Given the description of an element on the screen output the (x, y) to click on. 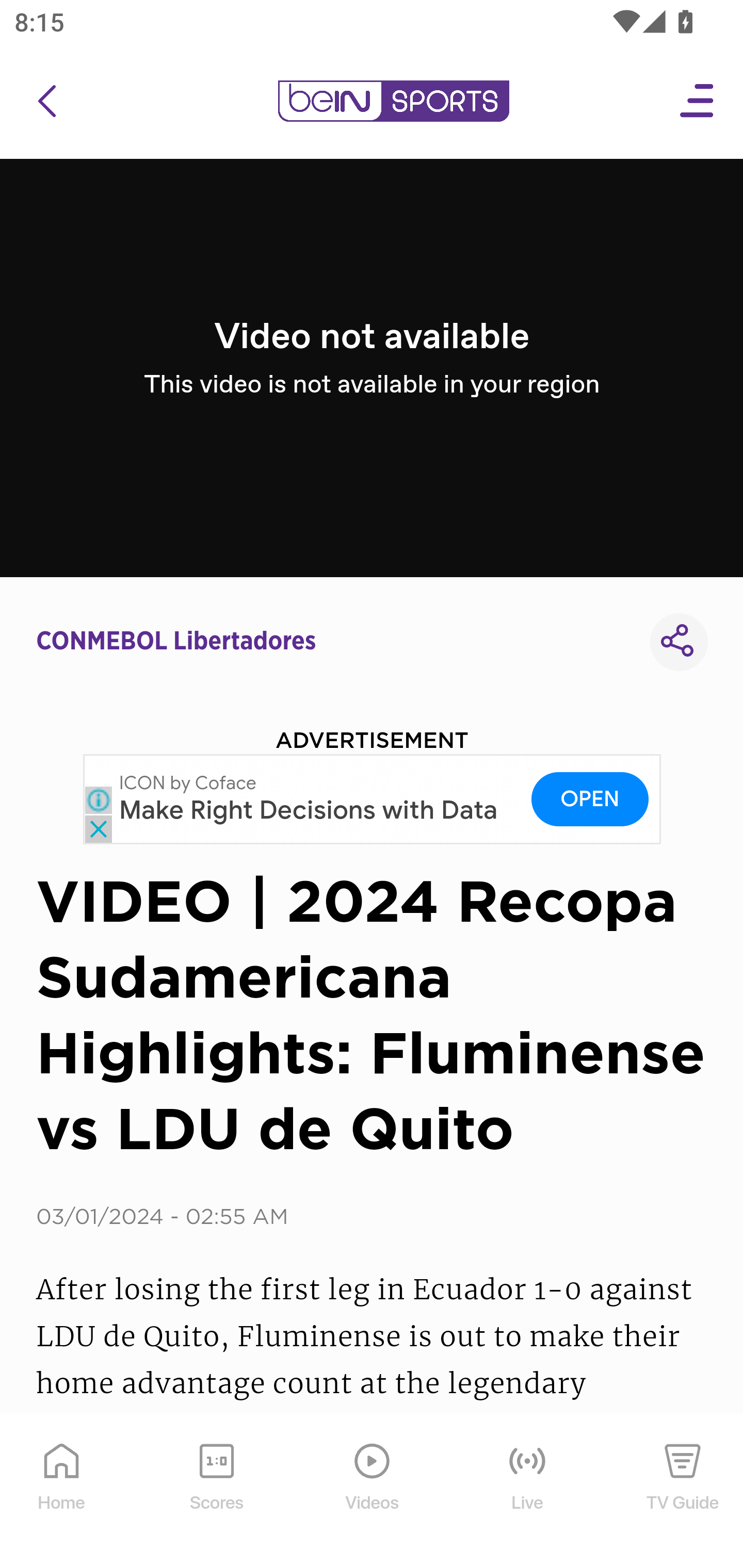
en-us?platform=mobile_android bein logo (392, 101)
icon back (46, 101)
Open Menu Icon (697, 101)
ICON by Coface (187, 782)
OPEN (590, 798)
Make Right Decisions with Data (308, 810)
Home Home Icon Home (61, 1491)
Scores Scores Icon Scores (216, 1491)
Videos Videos Icon Videos (372, 1491)
TV Guide TV Guide Icon TV Guide (682, 1491)
